Given the description of an element on the screen output the (x, y) to click on. 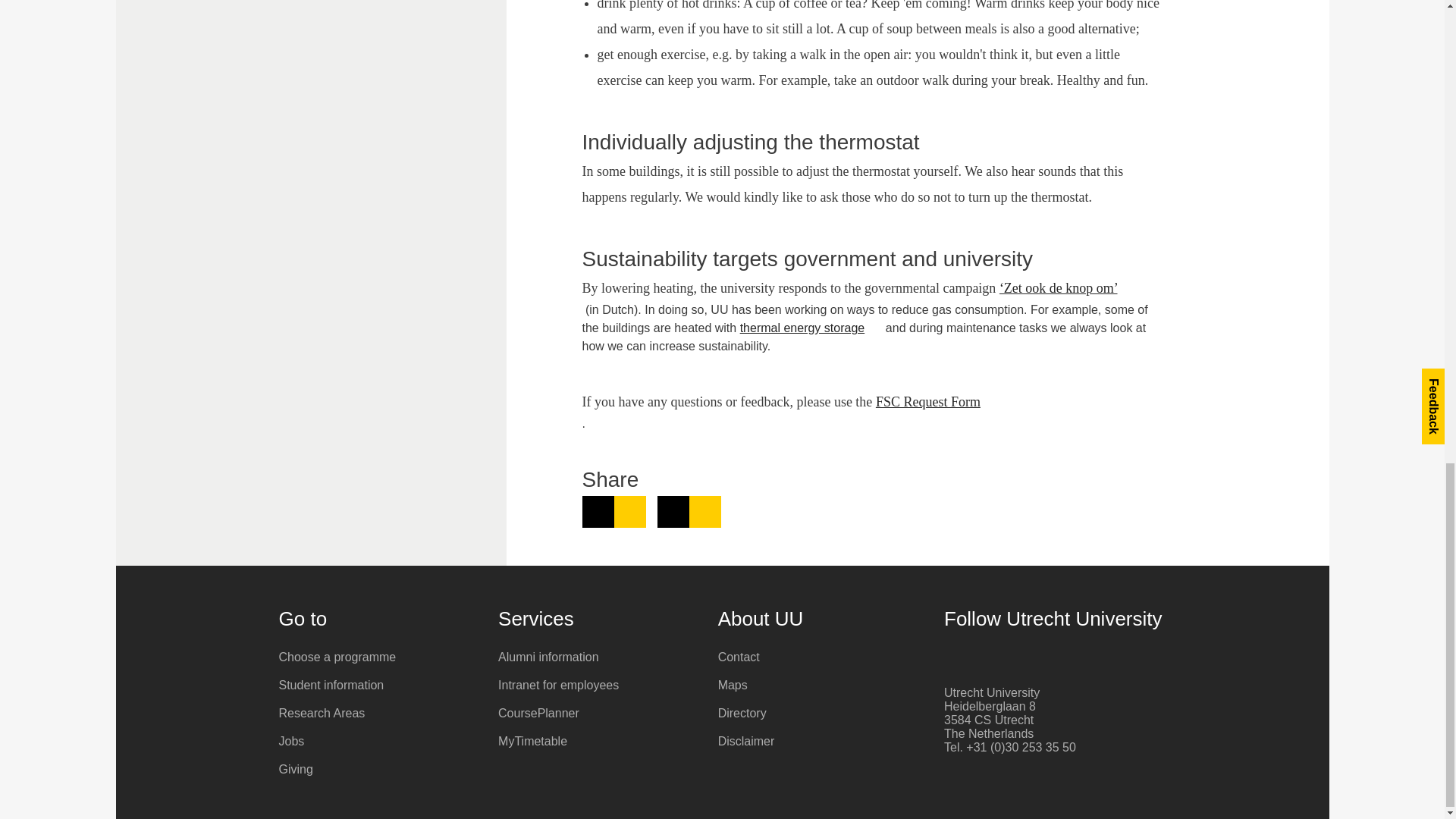
Research Areas (377, 713)
Alumni information (596, 657)
Intranet for employees (810, 327)
Share on Facebook (596, 685)
Share on Facebook (688, 511)
Giving (688, 511)
Student information (377, 769)
Share on LinkedIn (377, 685)
Choose a programme (614, 511)
Jobs (377, 657)
Share on LinkedIn (377, 741)
FSC Request Form (614, 511)
CoursePlanner (937, 401)
